Given the description of an element on the screen output the (x, y) to click on. 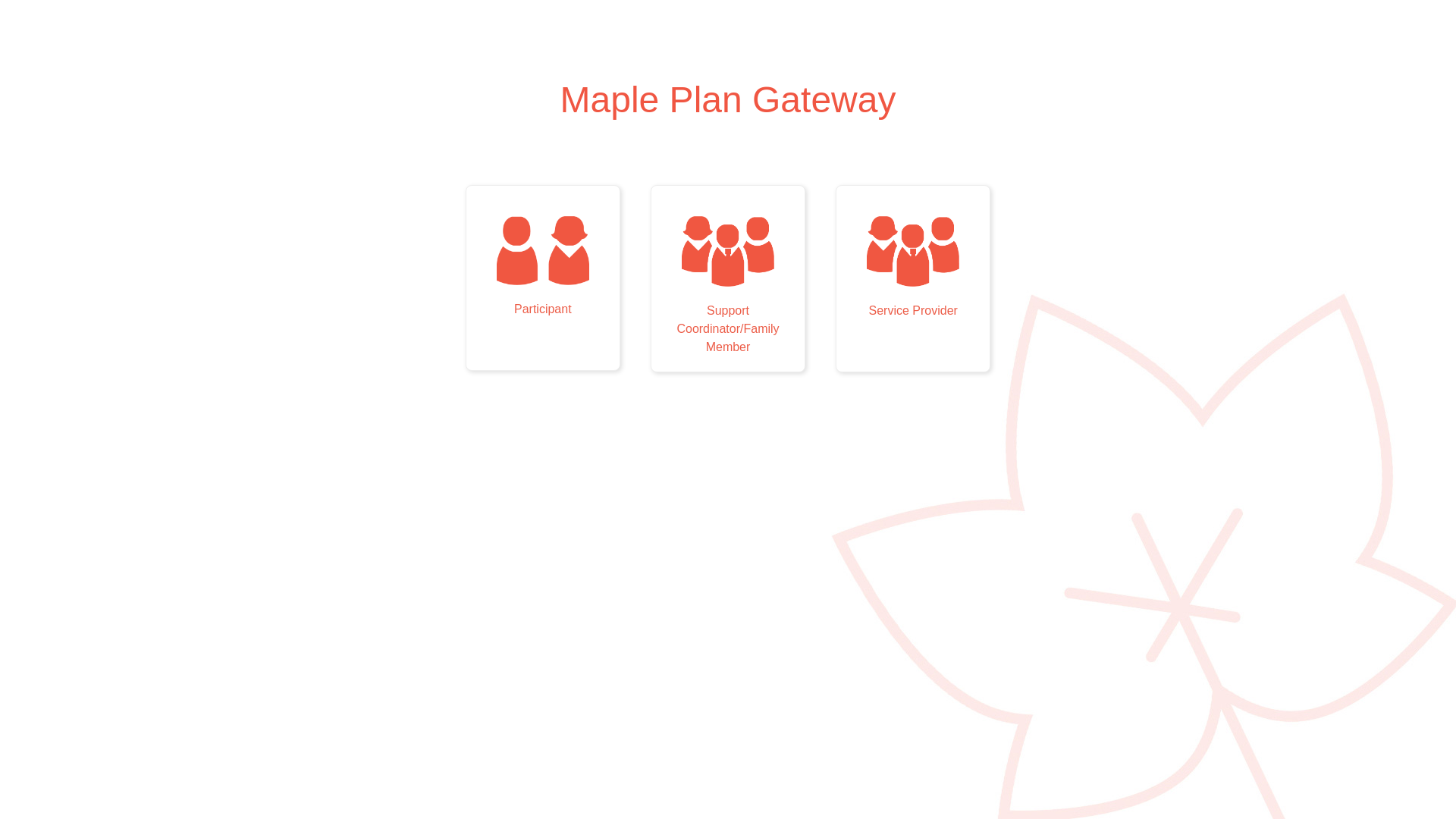
Participant Element type: text (542, 275)
Service Provider Element type: text (912, 276)
Support Coordinator/Family Member Element type: text (727, 276)
